Given the description of an element on the screen output the (x, y) to click on. 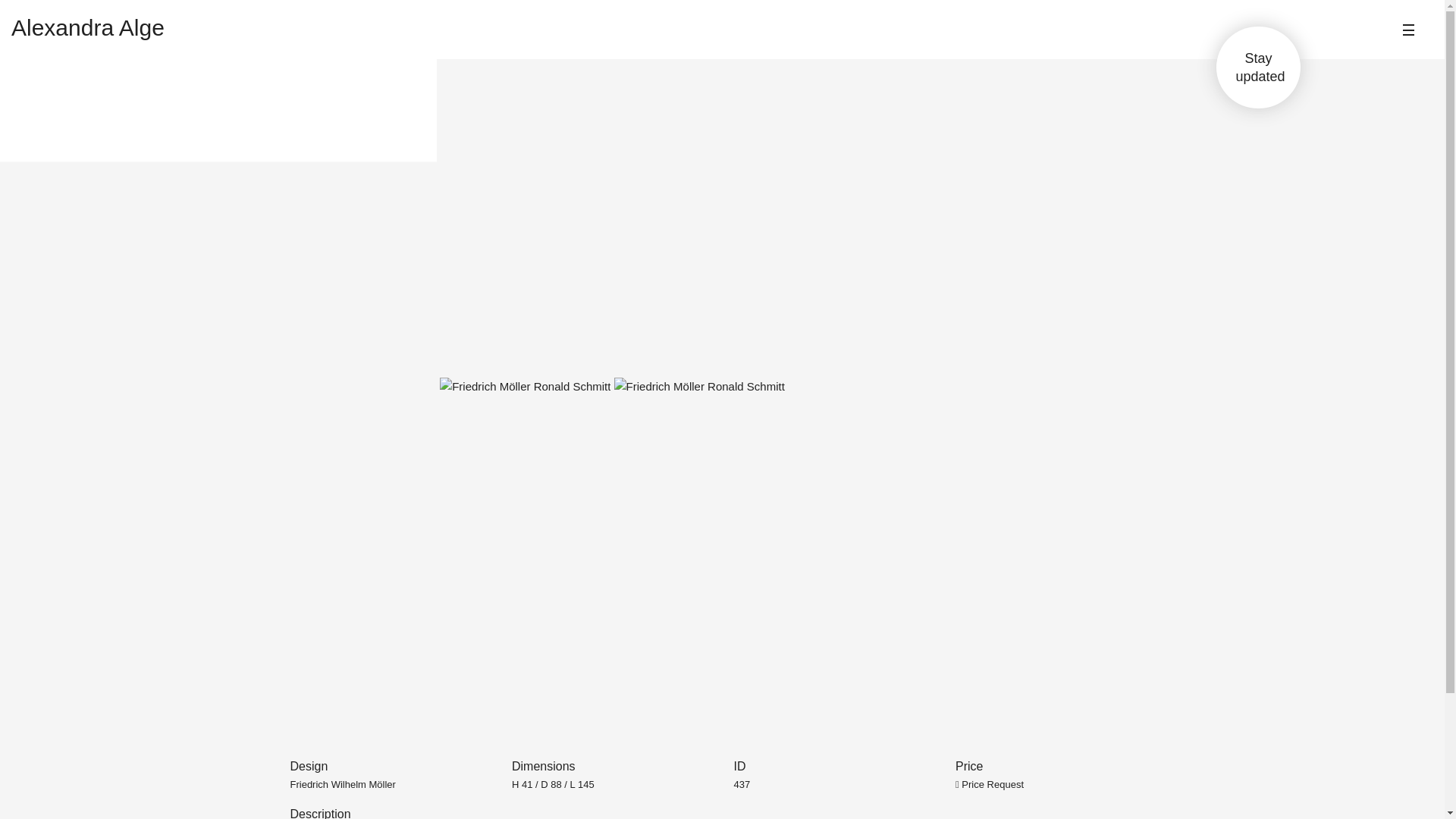
Price Request (1257, 67)
Alexandra Alge (989, 784)
